Given the description of an element on the screen output the (x, y) to click on. 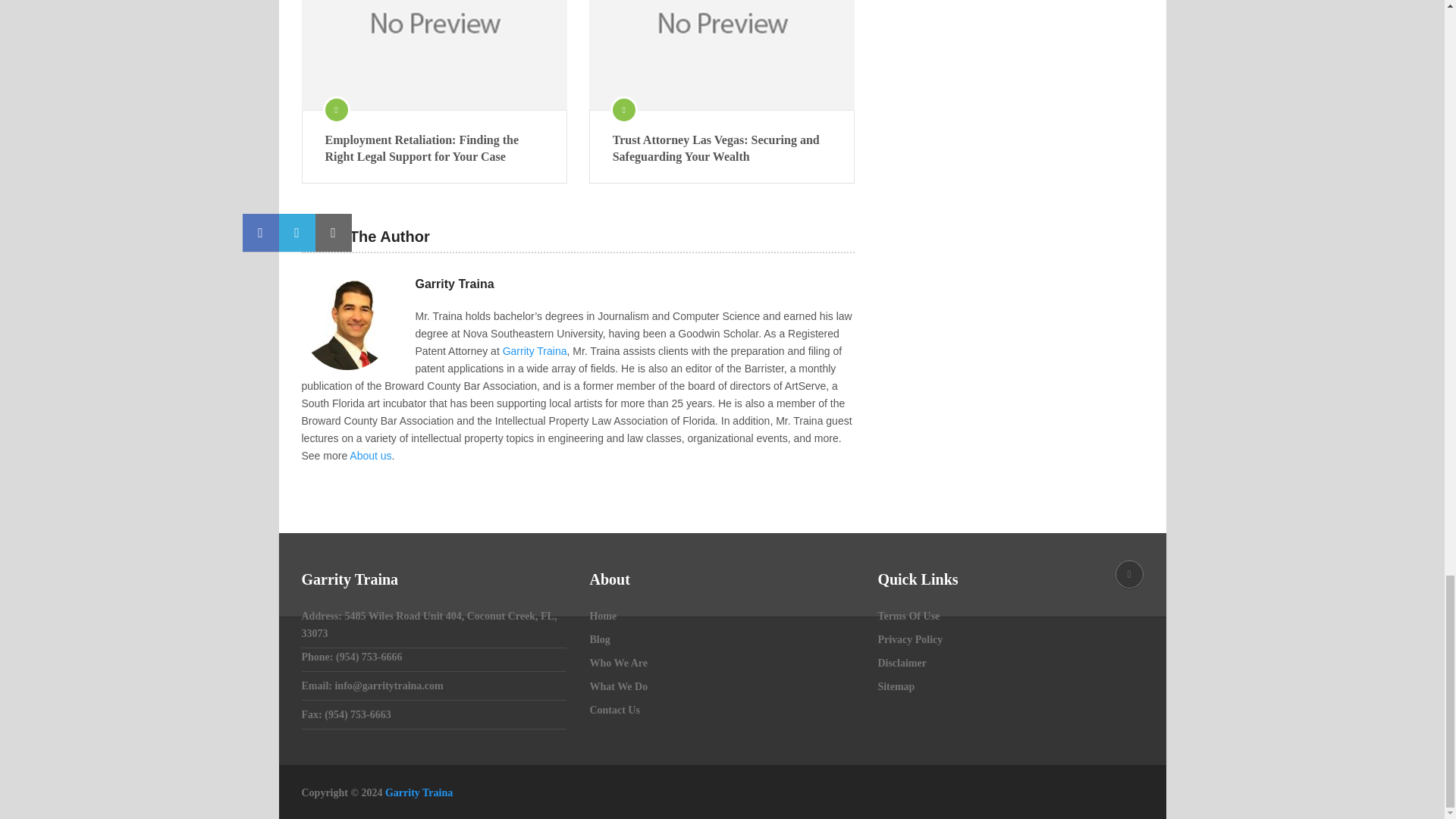
 garritytraina.com (418, 792)
Garrity Traina (534, 350)
Garrity Traina (454, 284)
About us (370, 455)
